Given the description of an element on the screen output the (x, y) to click on. 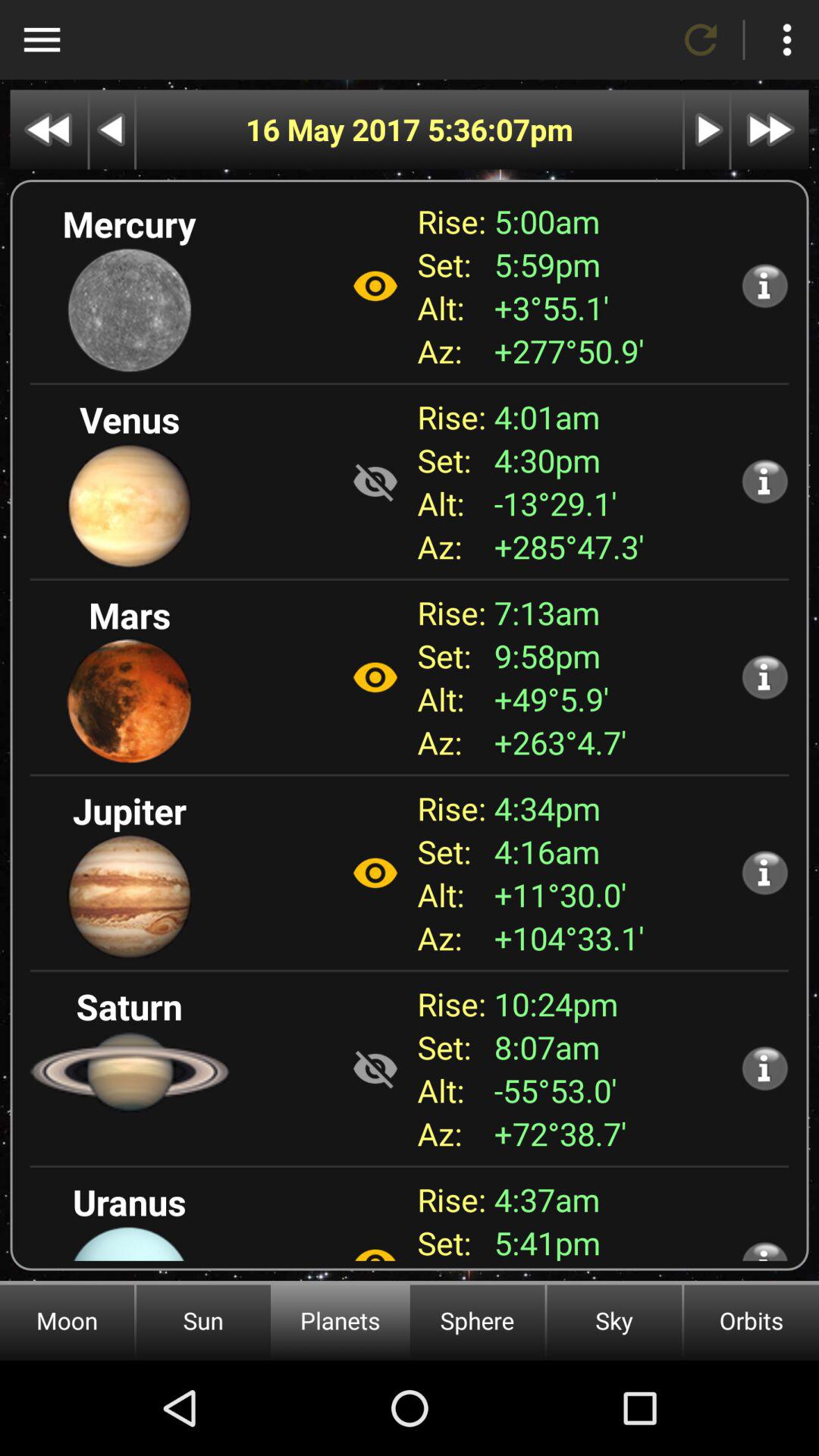
unhide (375, 481)
